Given the description of an element on the screen output the (x, y) to click on. 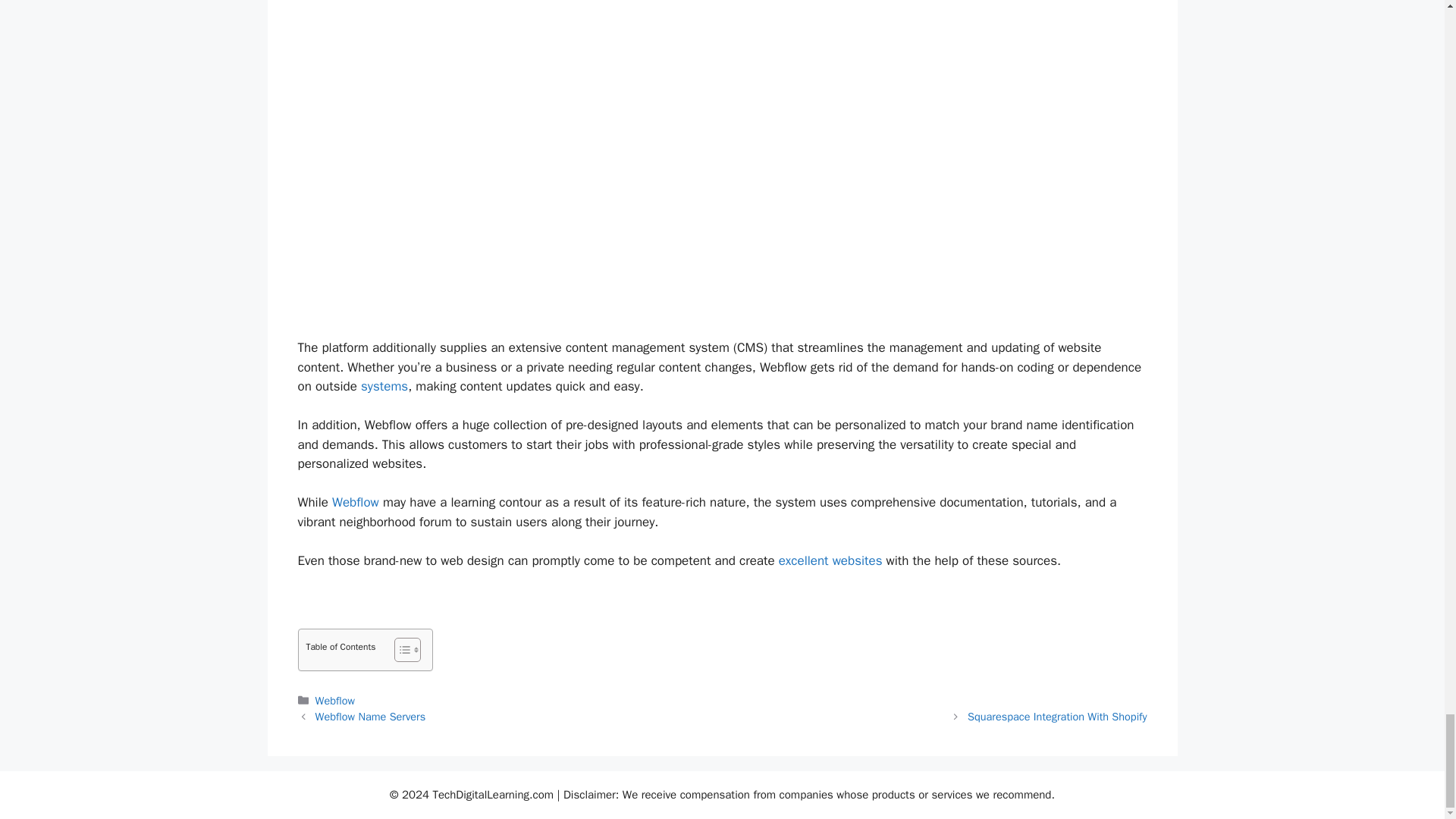
excellent websites (830, 560)
Webflow (335, 700)
Webflow (354, 502)
systems (384, 385)
Squarespace Integration With Shopify (1057, 716)
Webflow Name Servers (370, 716)
